Given the description of an element on the screen output the (x, y) to click on. 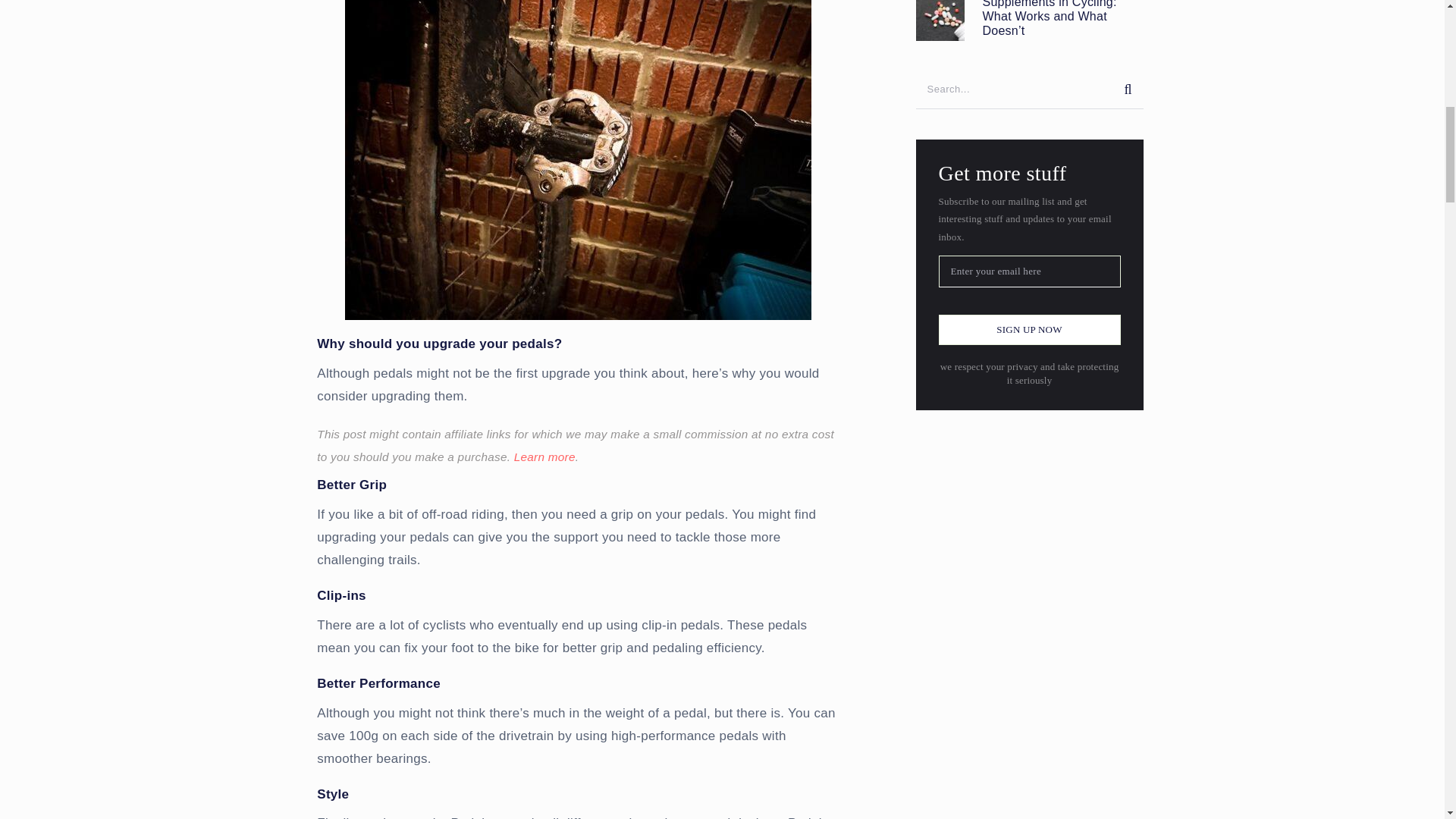
Learn more (544, 456)
SIGN UP NOW (1030, 329)
